Given the description of an element on the screen output the (x, y) to click on. 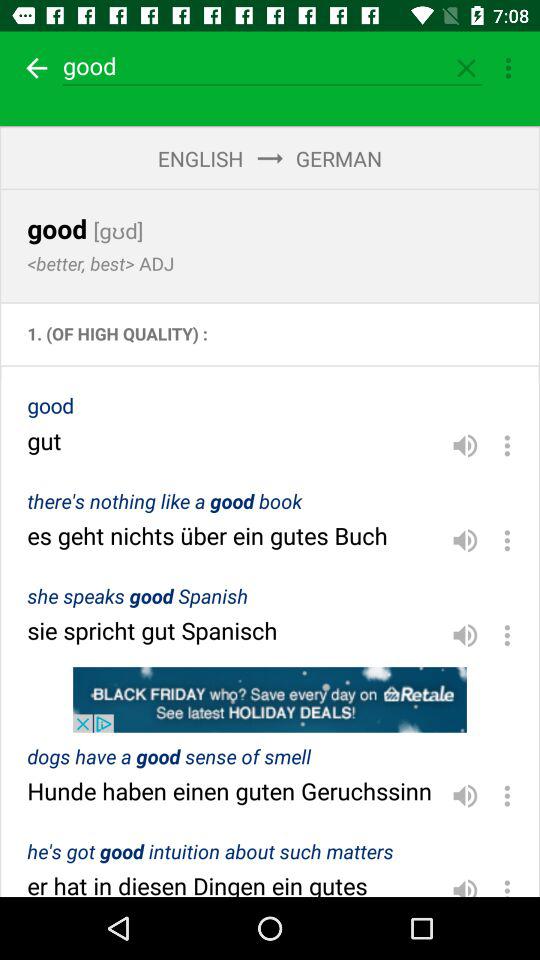
close option (466, 68)
